Given the description of an element on the screen output the (x, y) to click on. 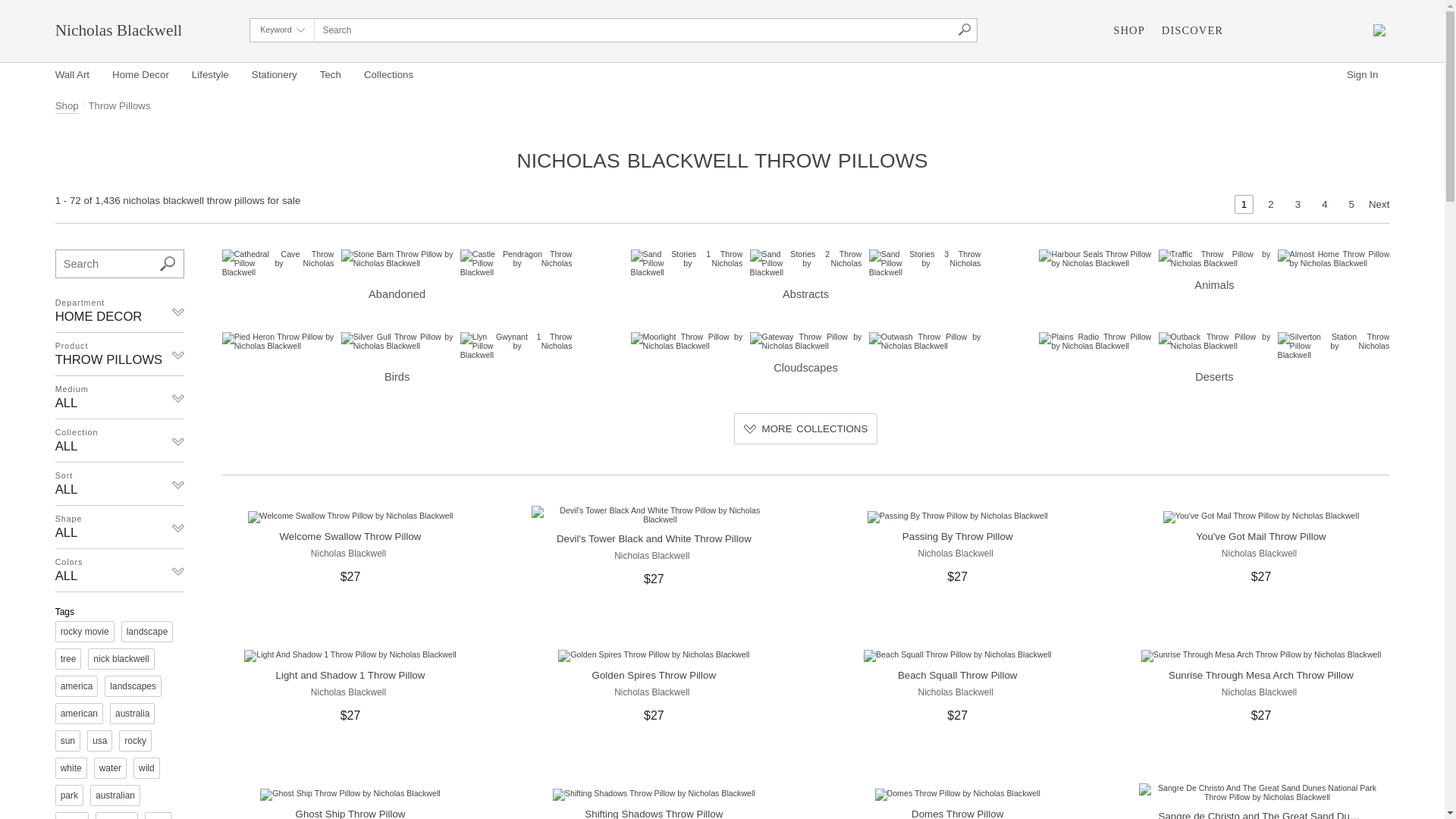
Welcome Swallow Throw Pillow by Nicholas Blackwell Element type: hover (350, 517)
Abstracts Element type: text (805, 275)
Sort ALL Element type: text (119, 484)
australian Element type: text (115, 795)
Cathedral Cave Throw Pillow by Nicholas Blackwell Element type: hover (278, 262)
Beach Squall Throw Pillow Element type: text (957, 674)
rocky Element type: text (135, 740)
Sunrise Through Mesa Arch Throw Pillow Element type: text (1260, 674)
Golden Spires Throw Pillow by Nicholas Blackwell Element type: hover (653, 655)
Stationery Element type: text (274, 75)
Department HOME DECOR Element type: text (119, 311)
Almost Home Throw Pillow by Nicholas Blackwell Element type: hover (1333, 258)
Passing By Throw Pillow Element type: text (957, 536)
park Element type: text (69, 795)
Golden Spires Throw Pillow Element type: text (653, 674)
Domes Throw Pillow by Nicholas Blackwell Element type: hover (957, 794)
Light and Shadow 1 Throw Pillow Element type: text (350, 674)
Welcome Swallow Throw Pillow Element type: text (350, 536)
Nicholas Blackwell Element type: text (1260, 691)
DISCOVER Element type: text (1192, 30)
Nicholas Blackwell Element type: text (956, 552)
Search Element type: hover (167, 263)
Stone Barn Throw Pillow by Nicholas Blackwell Element type: hover (397, 258)
landscapes Element type: text (132, 685)
2 Element type: text (1270, 203)
Silver Gull Throw Pillow by Nicholas Blackwell Element type: hover (397, 341)
4 Element type: text (1323, 203)
Next Element type: text (1378, 204)
Pied Heron Throw Pillow by Nicholas Blackwell Element type: hover (278, 341)
Shifting Shadows Throw Pillow by Nicholas Blackwell Element type: hover (653, 794)
white Element type: text (71, 767)
Shape ALL Element type: text (119, 527)
Silverton Station Throw Pillow by Nicholas Blackwell Element type: hover (1333, 345)
water Element type: text (110, 767)
Nicholas Blackwell Element type: text (1260, 552)
Keyword Element type: text (282, 29)
Moorlight Throw Pillow by Nicholas Blackwell Element type: hover (686, 341)
Devil's Tower Black and White Throw Pillow Element type: text (653, 538)
rocky movie Element type: text (84, 631)
usa Element type: text (99, 740)
Outback Throw Pillow by Nicholas Blackwell Element type: hover (1214, 341)
Castle Pendragon Throw Pillow by Nicholas Blackwell Element type: hover (516, 262)
Harbour Seals Throw Pillow by Nicholas Blackwell Element type: hover (1094, 258)
Sunrise Through Mesa Arch Throw Pillow by Nicholas Blackwell Element type: hover (1260, 655)
Nicholas Blackwell Element type: text (349, 691)
Nicholas Blackwell Element type: text (956, 691)
Passing By Throw Pillow by Nicholas Blackwell Element type: hover (957, 517)
Home Decor Element type: text (140, 75)
3 Element type: text (1297, 203)
Tech Element type: text (330, 75)
Traffic Throw Pillow by Nicholas Blackwell Element type: hover (1214, 258)
You've Got Mail Throw Pillow Element type: text (1260, 536)
australia Element type: text (131, 713)
Plains Radio Throw Pillow by Nicholas Blackwell Element type: hover (1094, 341)
Sand Stories 2 Throw Pillow by Nicholas Blackwell Element type: hover (805, 262)
Lifestyle Element type: text (210, 75)
Nicholas Blackwell Element type: text (653, 691)
wild Element type: text (146, 767)
Nicholas Blackwell Element type: text (118, 30)
Wall Art Element type: text (77, 75)
landscape Element type: text (147, 631)
MORE COLLECTIONS Element type: text (806, 428)
5 Element type: text (1351, 203)
Abandoned Element type: text (397, 275)
Outwash Throw Pillow by Nicholas Blackwell Element type: hover (925, 341)
Nicholas Blackwell Element type: text (349, 552)
Sand Stories 1 Throw Pillow by Nicholas Blackwell Element type: hover (686, 262)
Beach Squall Throw Pillow by Nicholas Blackwell Element type: hover (957, 655)
Llyn Gwynant 1 Throw Pillow by Nicholas Blackwell Element type: hover (516, 345)
nick blackwell Element type: text (120, 658)
Ghost Ship Throw Pillow by Nicholas Blackwell Element type: hover (349, 794)
Deserts Element type: text (1213, 358)
Product THROW PILLOWS Element type: text (119, 354)
You've Got Mail Throw Pillow by Nicholas Blackwell Element type: hover (1261, 517)
Birds Element type: text (397, 358)
Medium ALL Element type: text (119, 397)
Light And Shadow 1 Throw Pillow by Nicholas Blackwell Element type: hover (349, 655)
Nicholas Blackwell Element type: text (653, 554)
tree Element type: text (68, 658)
Shop Element type: text (70, 105)
Sign In Element type: text (1362, 75)
Collection ALL Element type: text (119, 441)
Collections Element type: text (388, 75)
sun Element type: text (67, 740)
SHOP Element type: text (1128, 30)
Sand Stories 3 Throw Pillow by Nicholas Blackwell Element type: hover (925, 262)
Gateway Throw Pillow by Nicholas Blackwell Element type: hover (805, 341)
american Element type: text (79, 713)
Animals Element type: text (1213, 270)
Colors ALL Element type: text (119, 570)
america Element type: text (76, 685)
Cloudscapes Element type: text (805, 353)
